Given the description of an element on the screen output the (x, y) to click on. 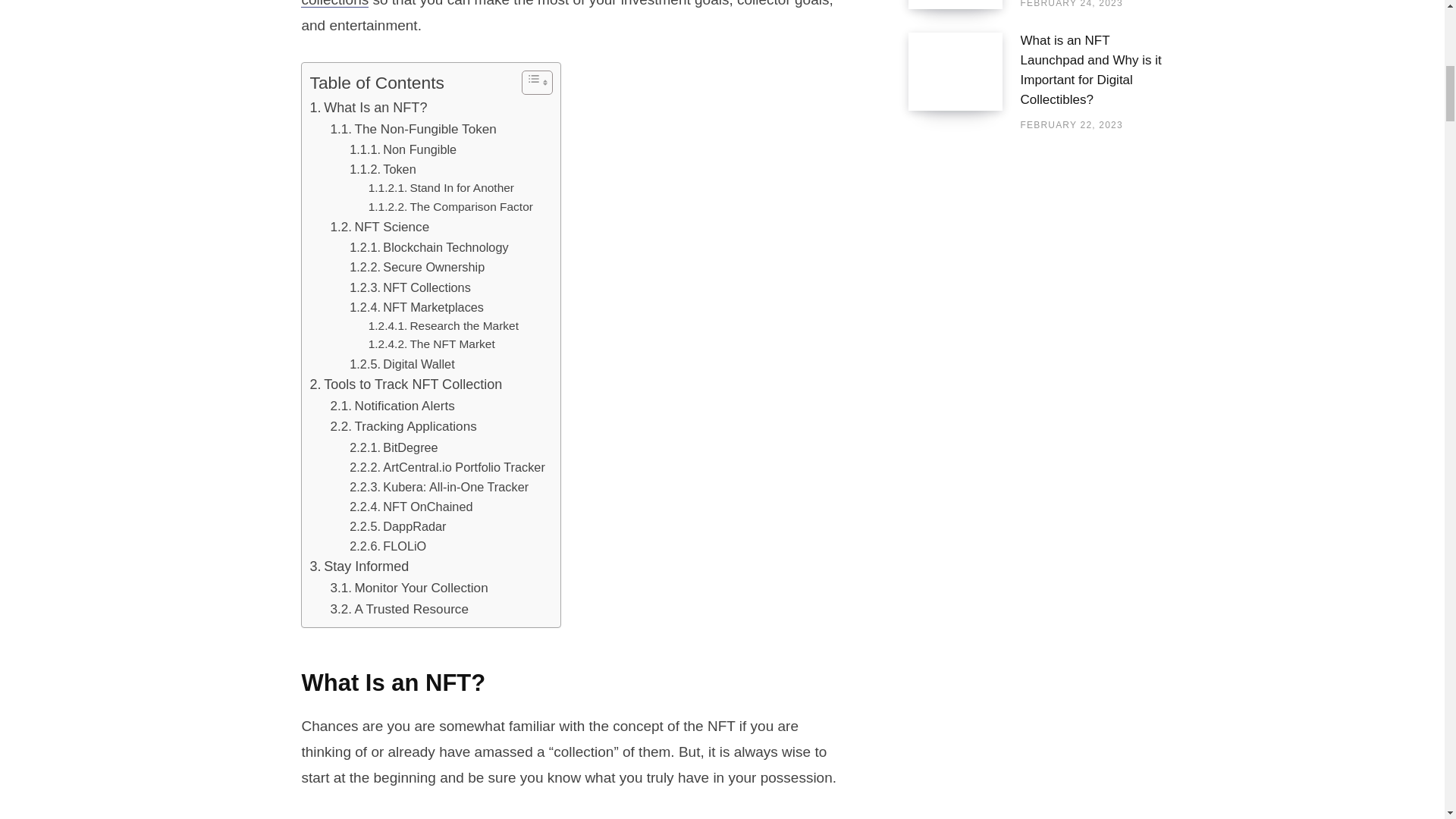
Non Fungible (403, 148)
The Non-Fungible Token (413, 128)
Non Fungible (403, 148)
NFT OnChained (410, 506)
NFT collections (539, 3)
Secure Ownership (416, 266)
Stand In for Another (440, 188)
Digital Wallet (401, 363)
The NFT Market (431, 343)
NFT Science (379, 227)
NFT Marketplaces (416, 306)
Research the Market (443, 325)
The Non-Fungible Token (413, 128)
Token (381, 168)
Kubera: All-in-One Tracker (438, 486)
